Given the description of an element on the screen output the (x, y) to click on. 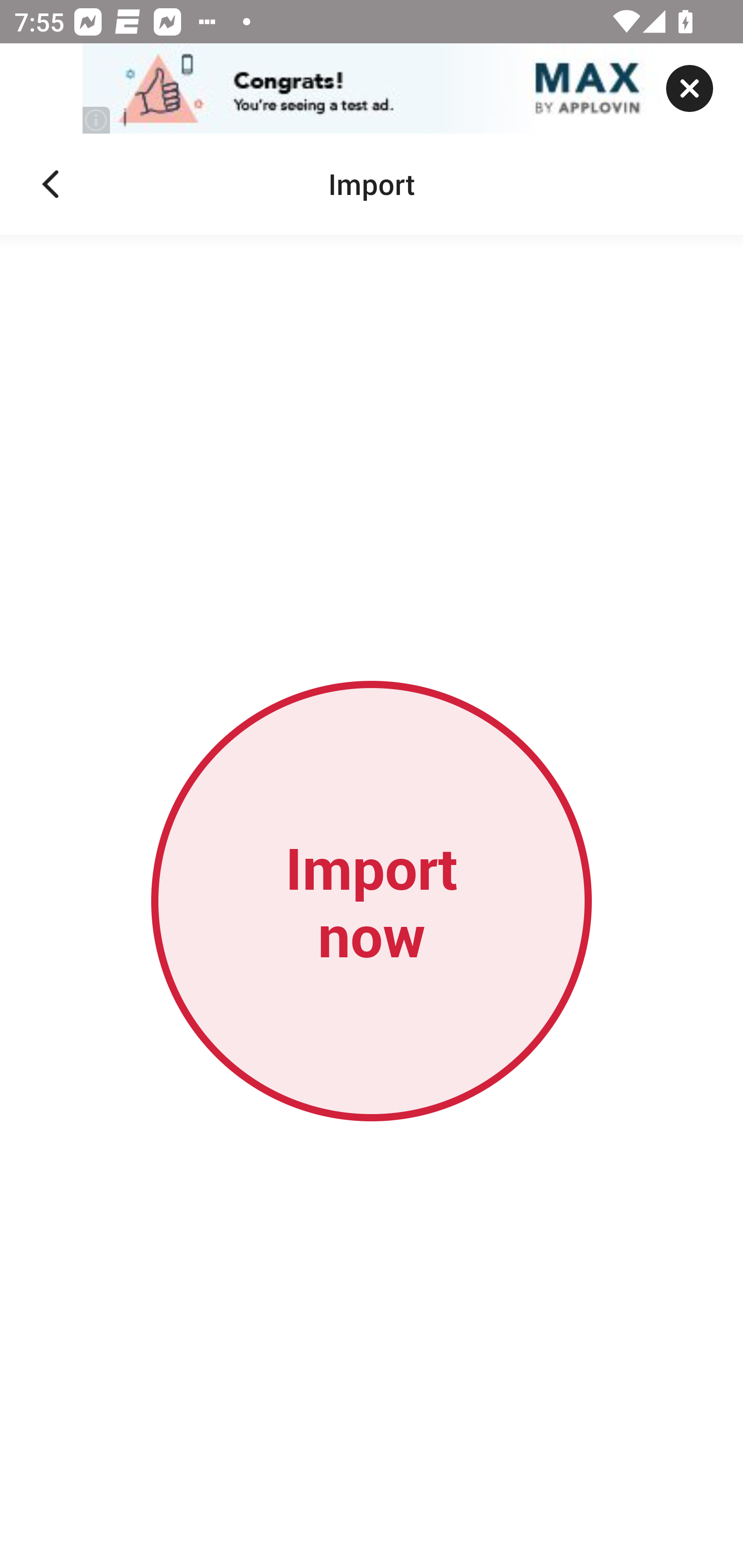
app-monetization (371, 88)
(i) (96, 119)
Navigate up (50, 184)
